Given the description of an element on the screen output the (x, y) to click on. 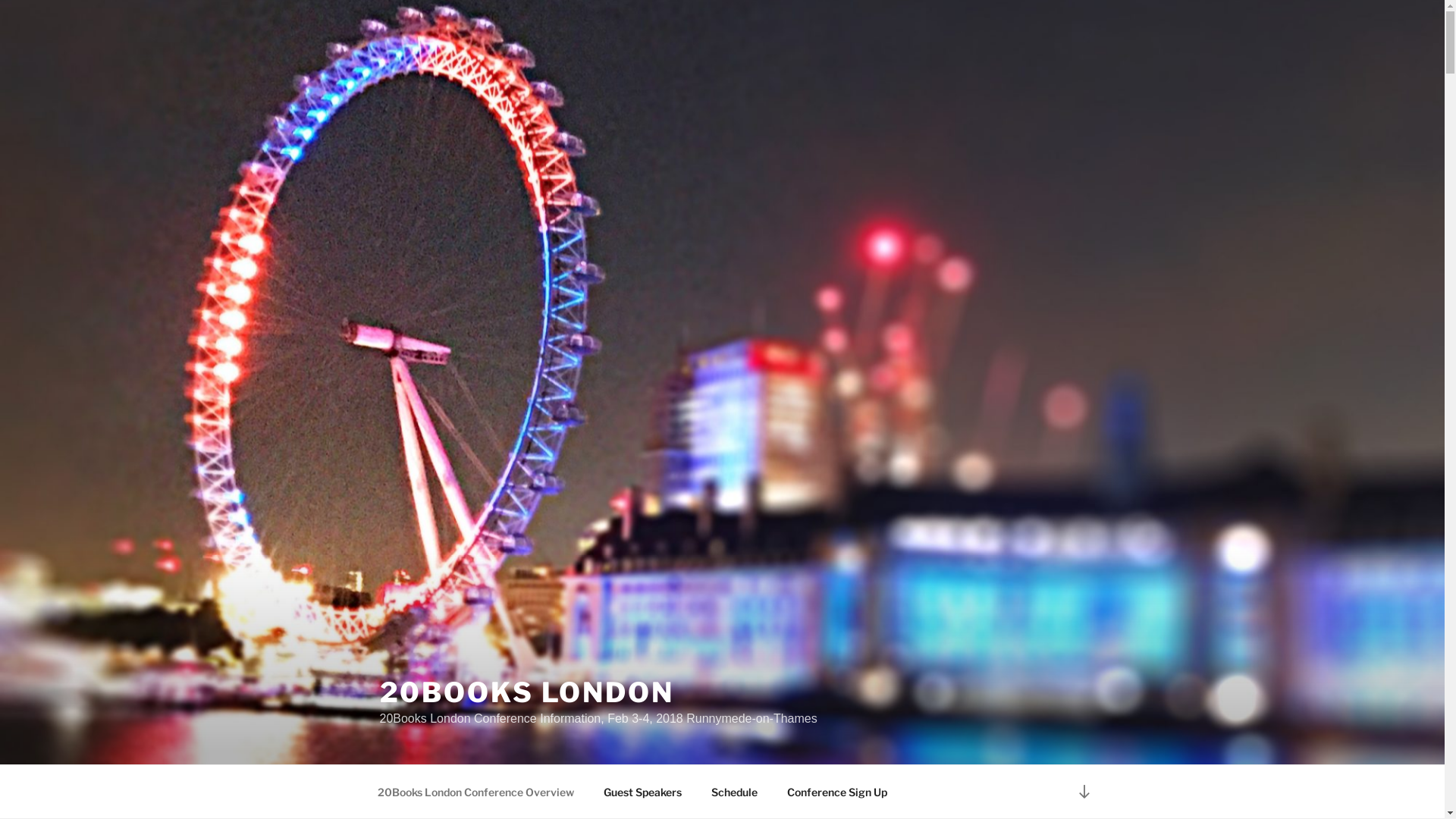
Conference Sign Up Element type: text (836, 791)
Schedule Element type: text (733, 791)
Scroll down to content Element type: text (1083, 790)
20Books London Conference Overview Element type: text (475, 791)
Guest Speakers Element type: text (641, 791)
20BOOKS LONDON Element type: text (526, 692)
